Given the description of an element on the screen output the (x, y) to click on. 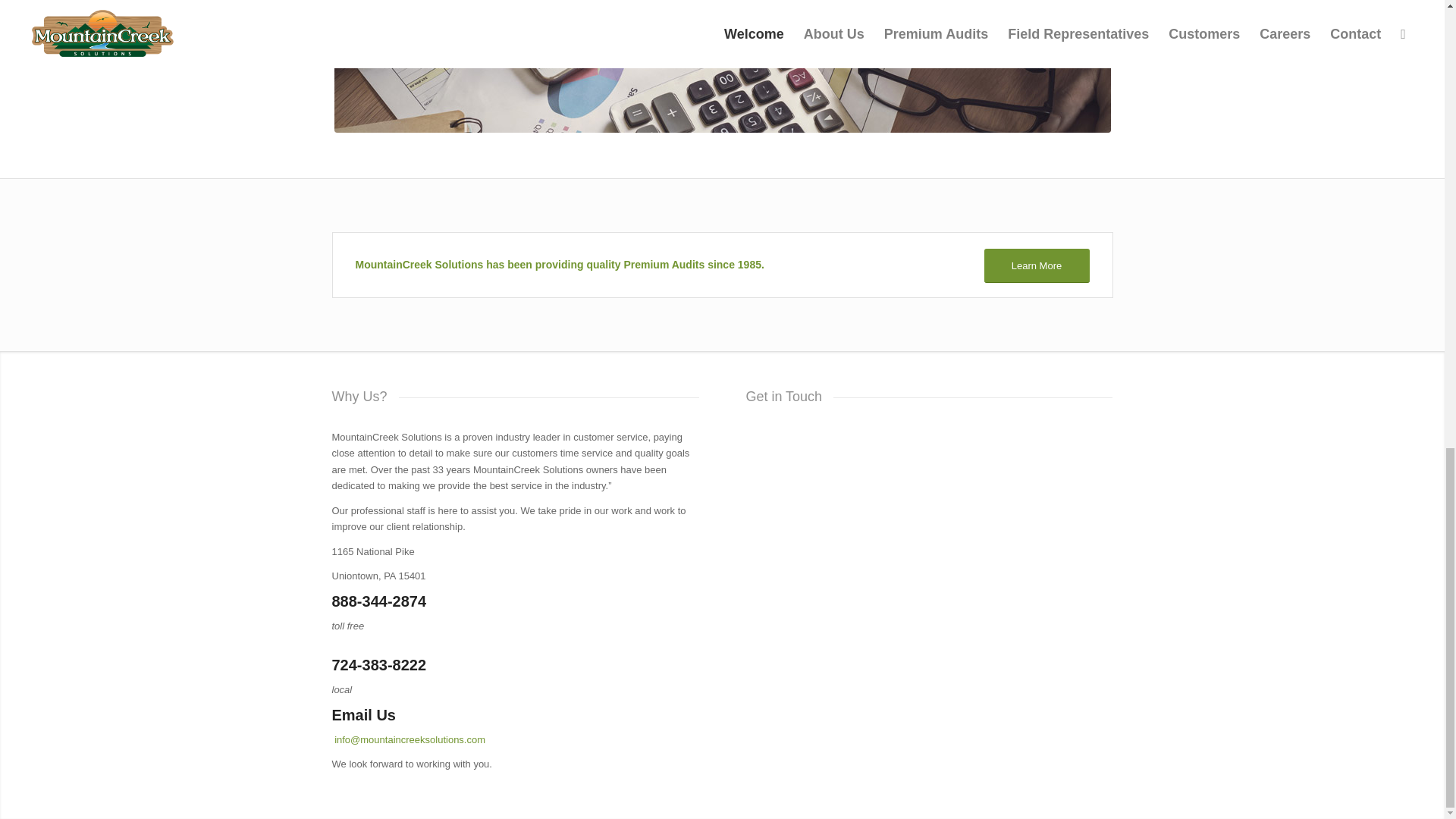
Learn More (1036, 265)
Premium Audits MountainCreek-Solutions-42 (721, 66)
